Given the description of an element on the screen output the (x, y) to click on. 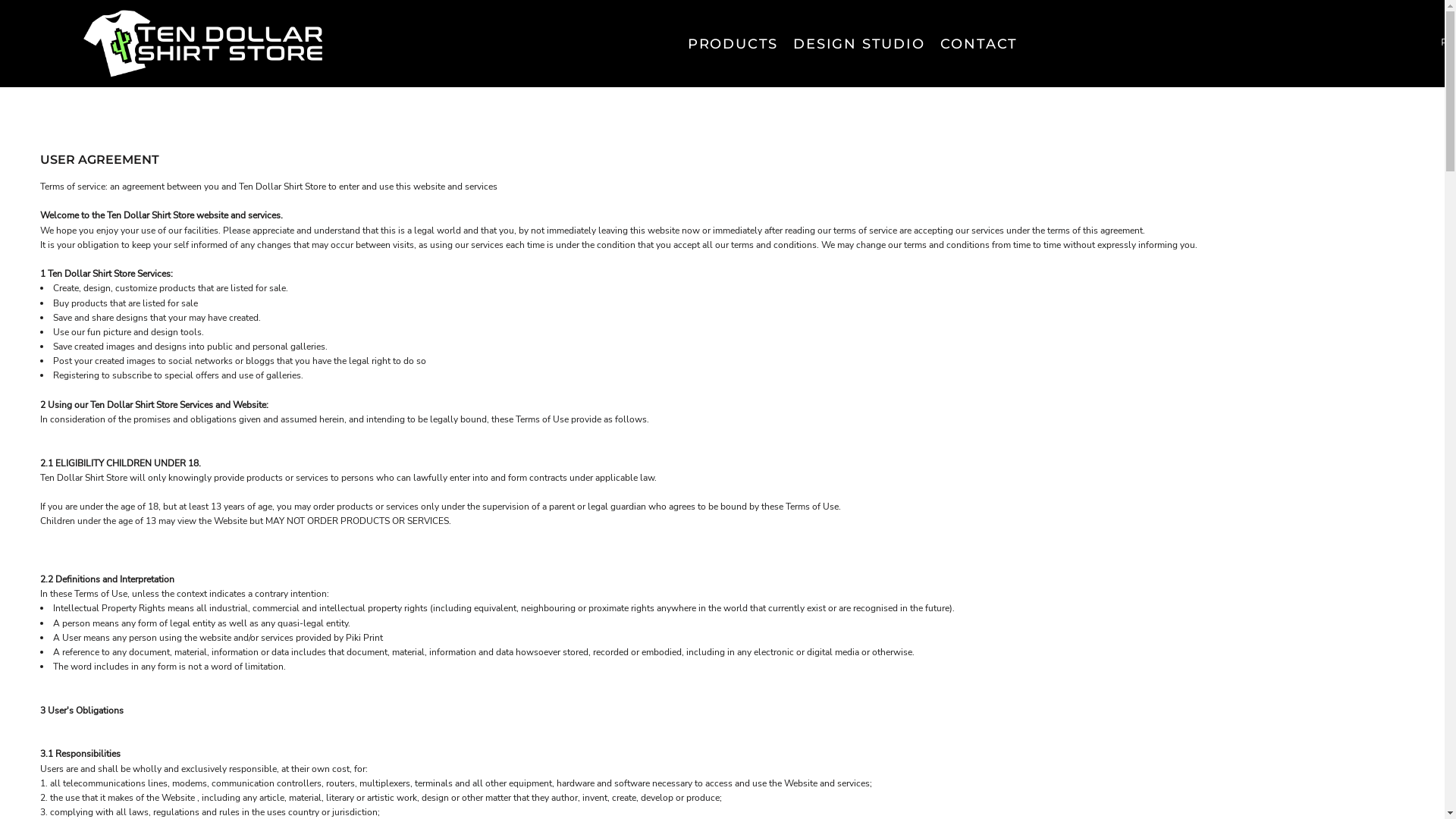
PRODUCTS Element type: text (732, 42)
CONTACT Element type: text (979, 42)
DESIGN STUDIO Element type: text (858, 42)
as Element type: text (9, 18)
